Given the description of an element on the screen output the (x, y) to click on. 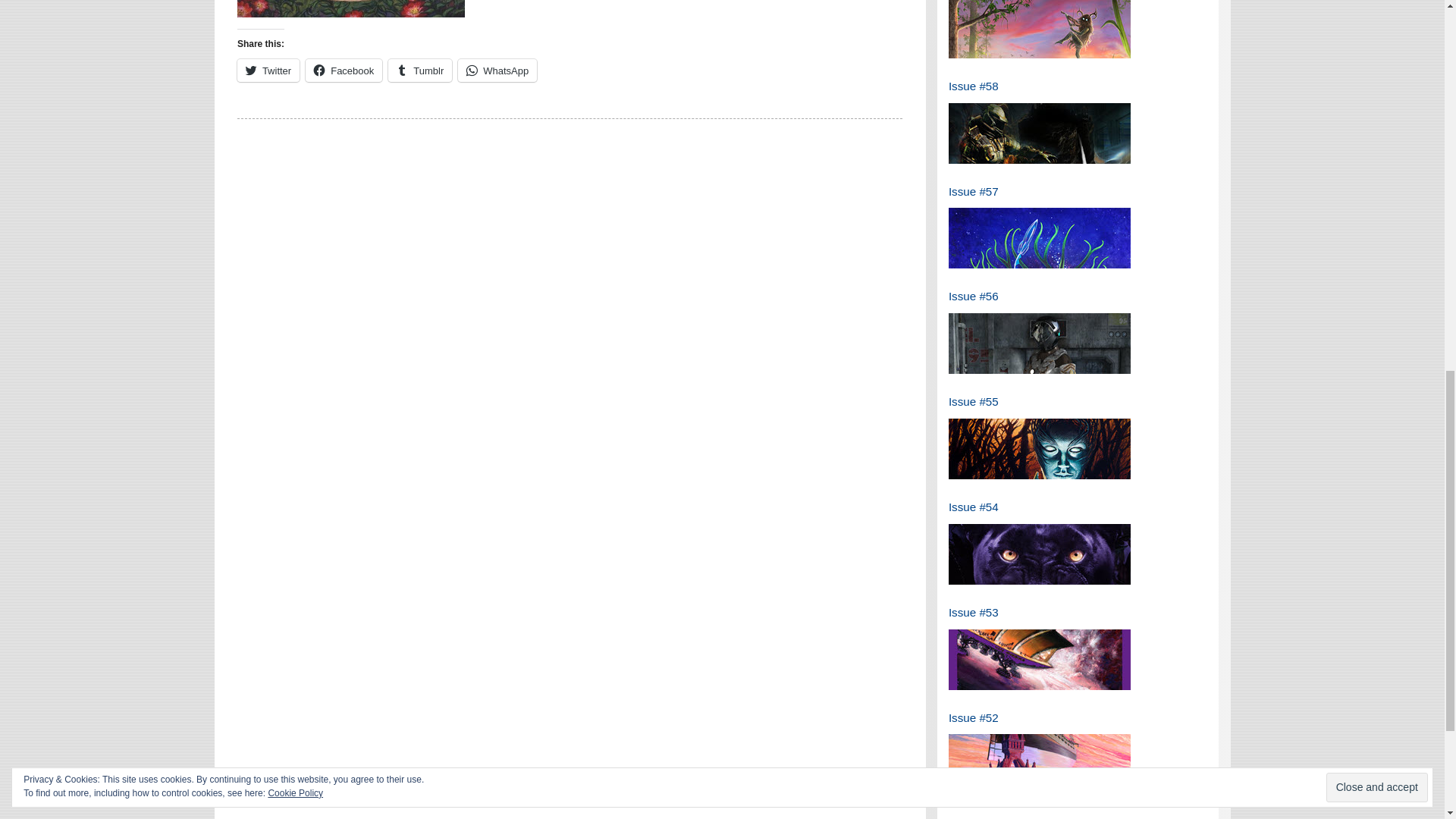
Click to share on Twitter (268, 69)
WhatsApp (497, 69)
Click to share on Facebook (343, 69)
Click to share on WhatsApp (497, 69)
Tumblr (419, 69)
Click to share on Tumblr (419, 69)
Facebook (343, 69)
Twitter (268, 69)
